Given the description of an element on the screen output the (x, y) to click on. 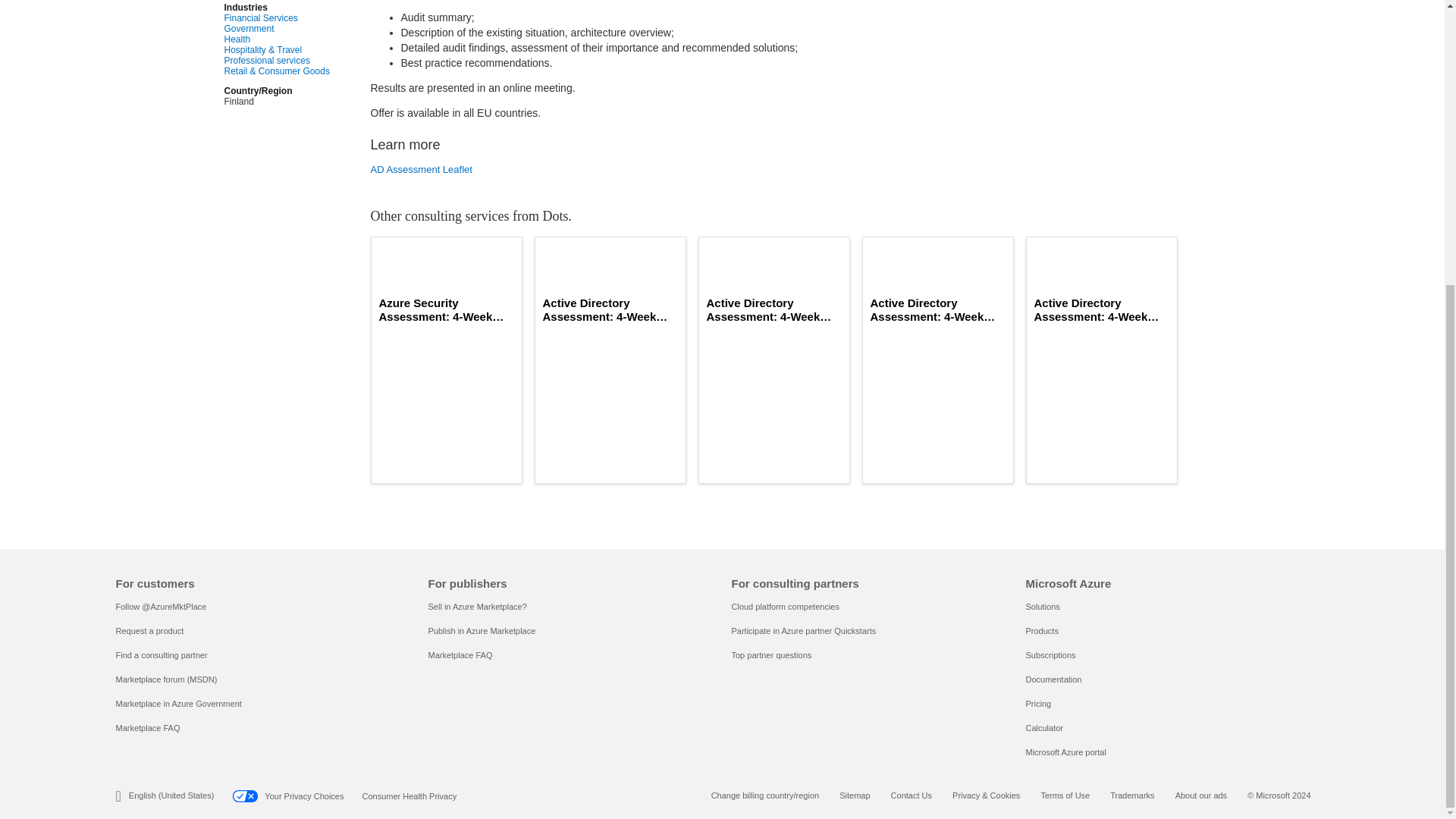
AD Assessment Leaflet (585, 169)
Professional services (277, 60)
Financial Services (277, 18)
Health (277, 39)
Government (277, 28)
Request a product (149, 630)
